Given the description of an element on the screen output the (x, y) to click on. 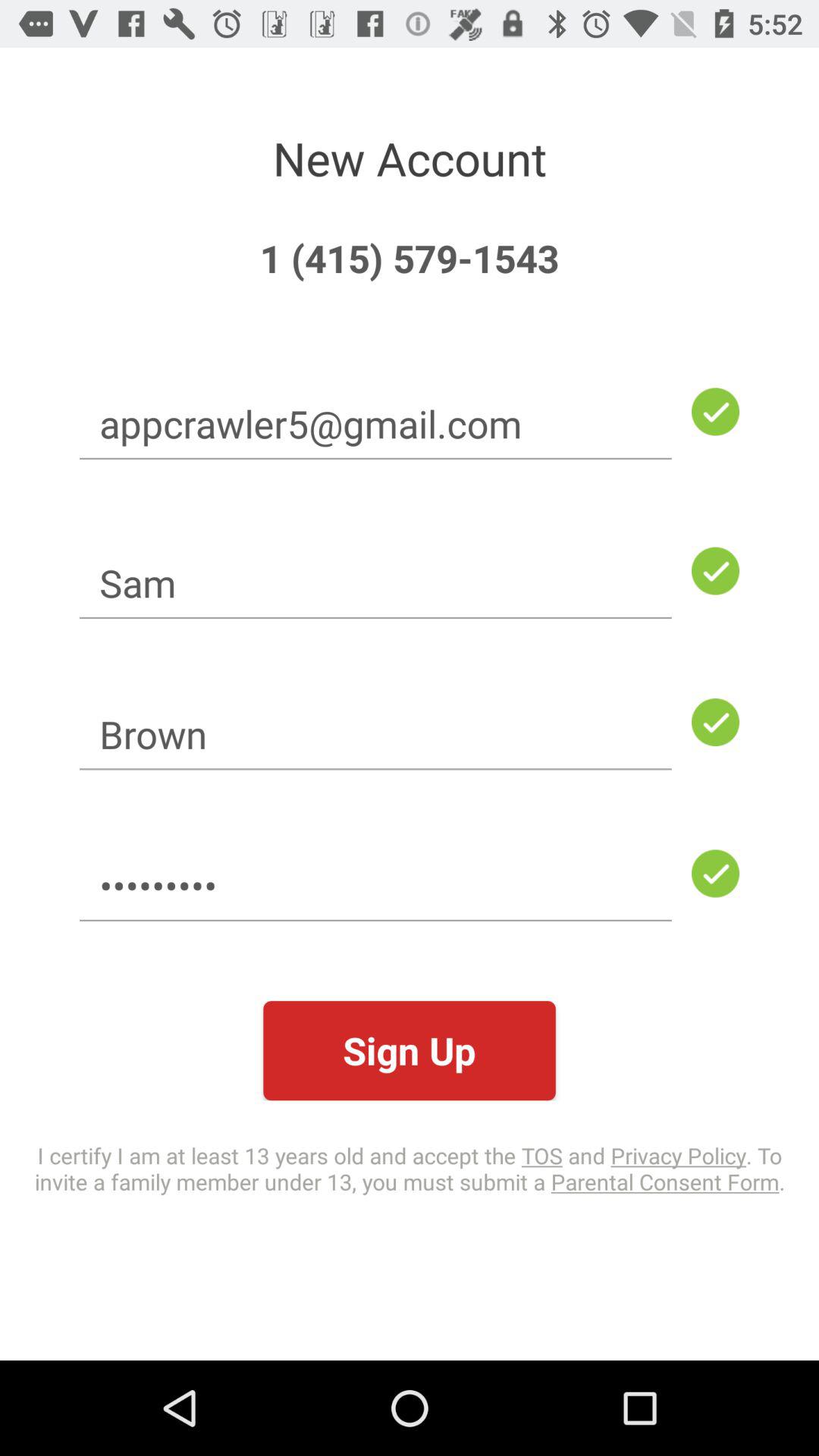
jump until sign up (409, 1050)
